Given the description of an element on the screen output the (x, y) to click on. 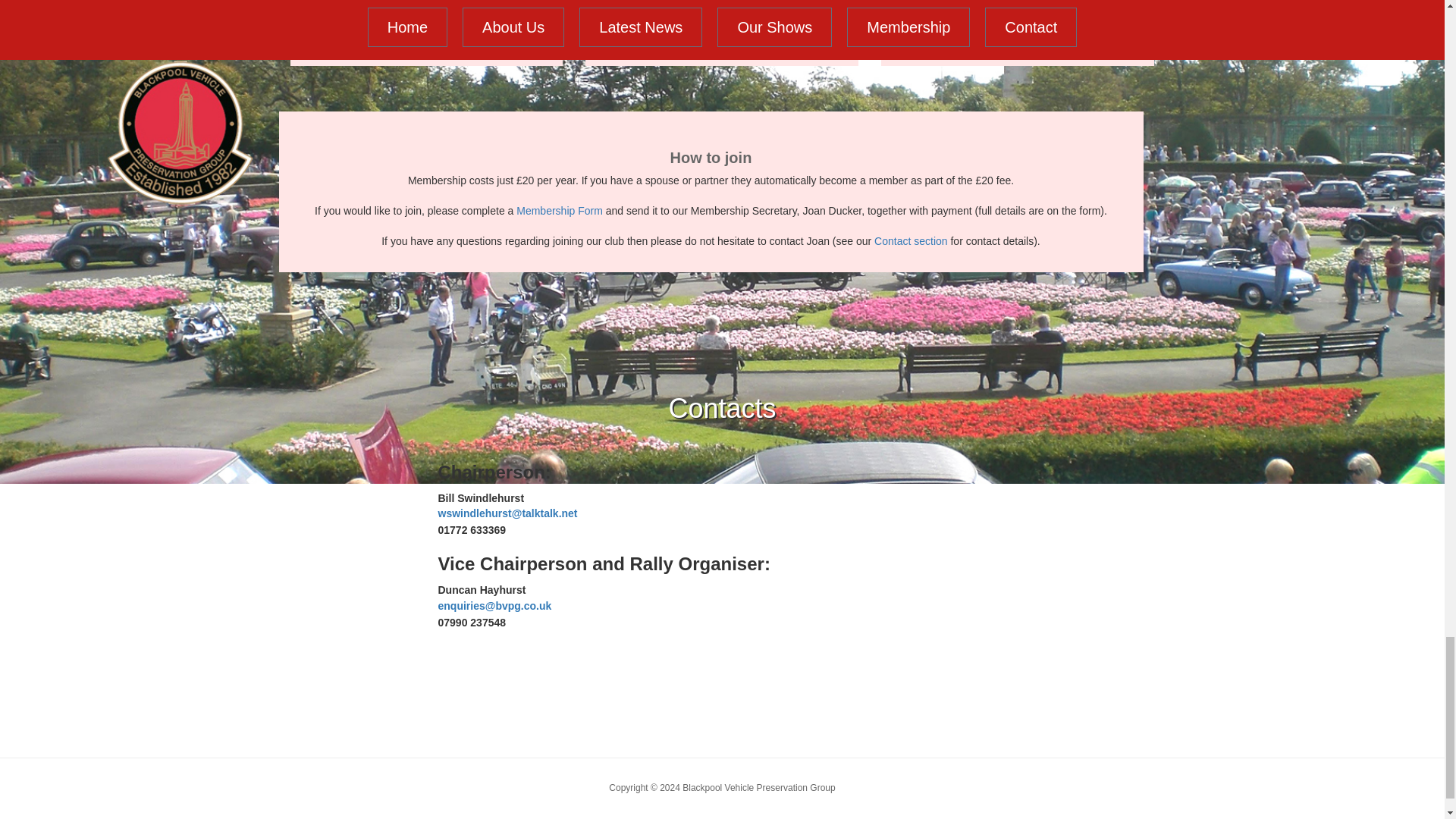
Contact section (911, 241)
Membership Form (559, 210)
